Given the description of an element on the screen output the (x, y) to click on. 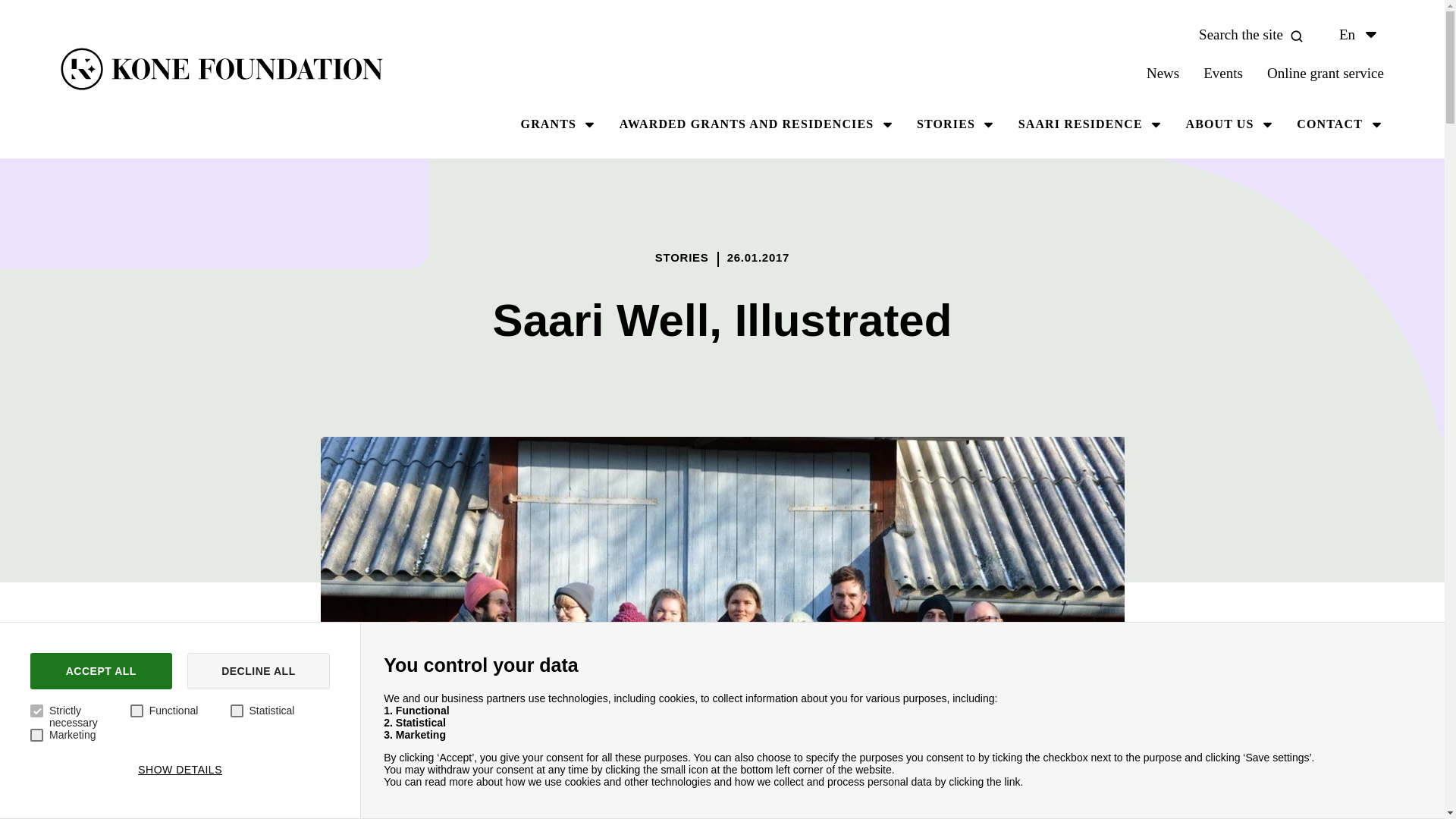
ACCEPT ALL (100, 670)
SHOW DETAILS (179, 768)
DECLINE ALL (258, 670)
